Given the description of an element on the screen output the (x, y) to click on. 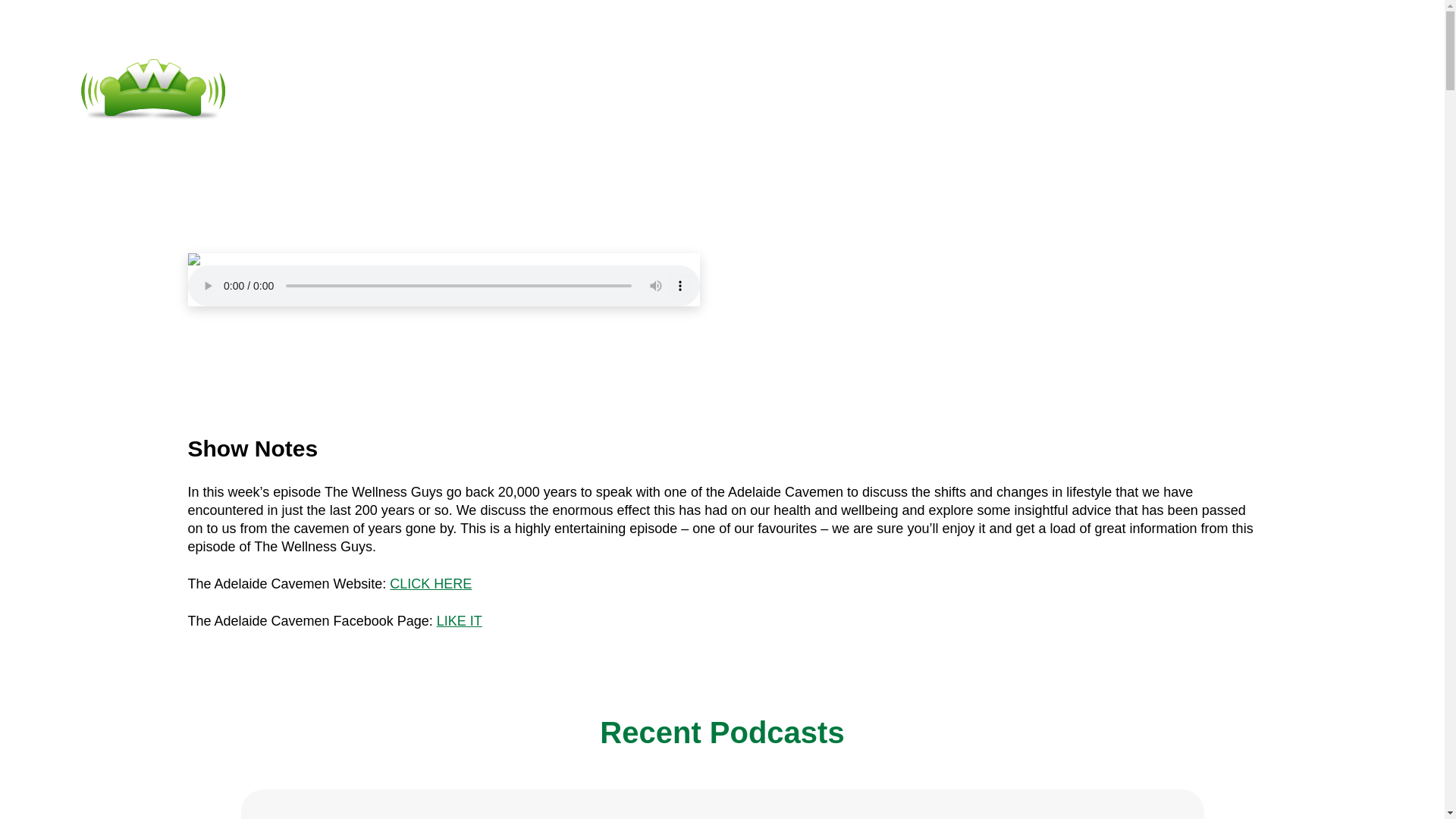
CLICK HERE (430, 583)
Login (820, 89)
Contact Us (715, 89)
Podcasts (592, 89)
LIKE IT (458, 620)
This Week In Wellness (836, 313)
